Given the description of an element on the screen output the (x, y) to click on. 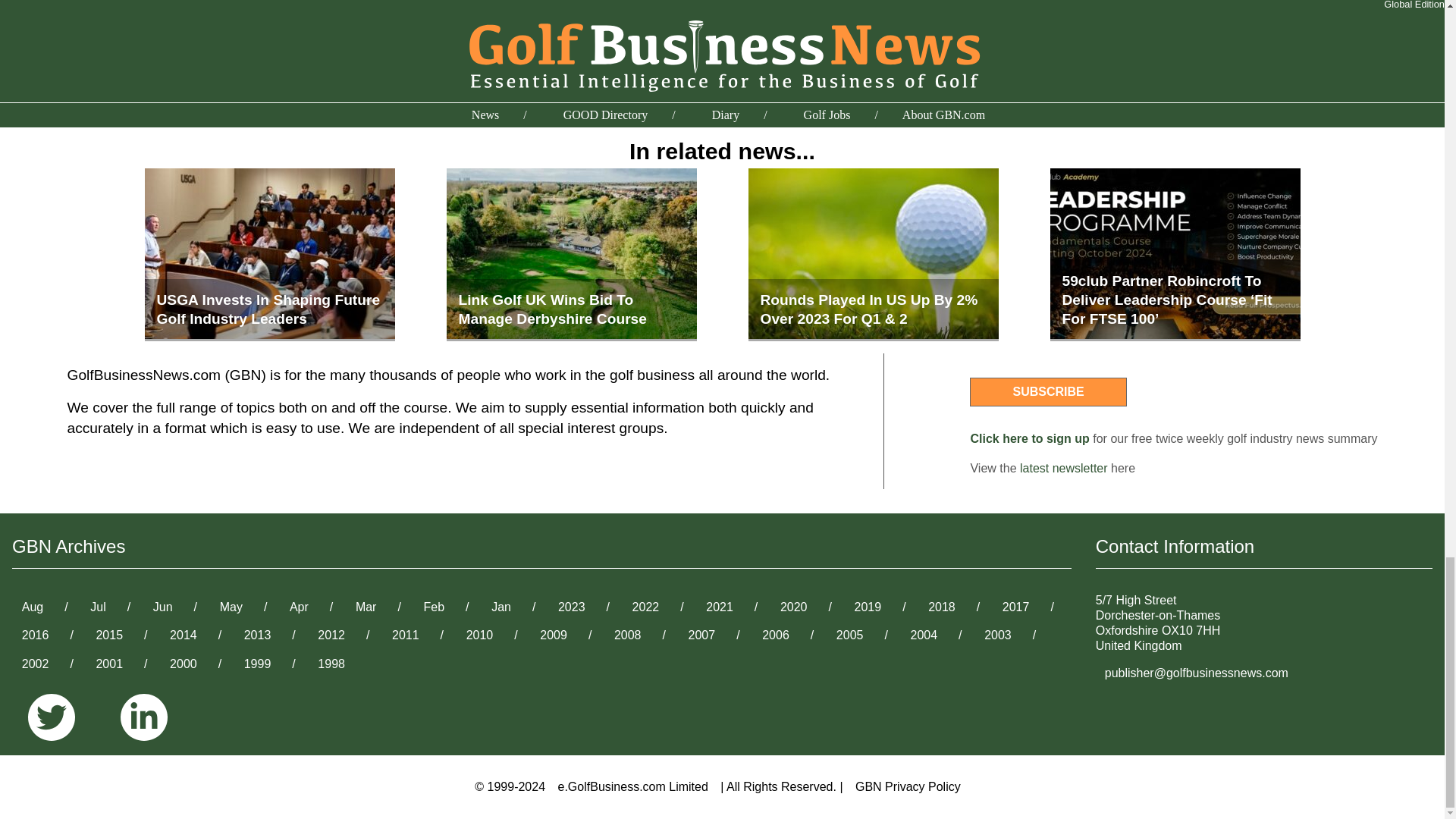
CONGU (472, 89)
Link Golf UK Wins Bid To Manage Derbyshire Course (570, 254)
Titleist (617, 89)
Share on LinkedIn (998, 12)
www.howdidido.com (604, 7)
Barry Dyett (302, 89)
Follow us on Twitter (57, 718)
BOSS Watch (391, 89)
Connect with us on LinkedIn (143, 718)
HowDidiDo (547, 89)
